Given the description of an element on the screen output the (x, y) to click on. 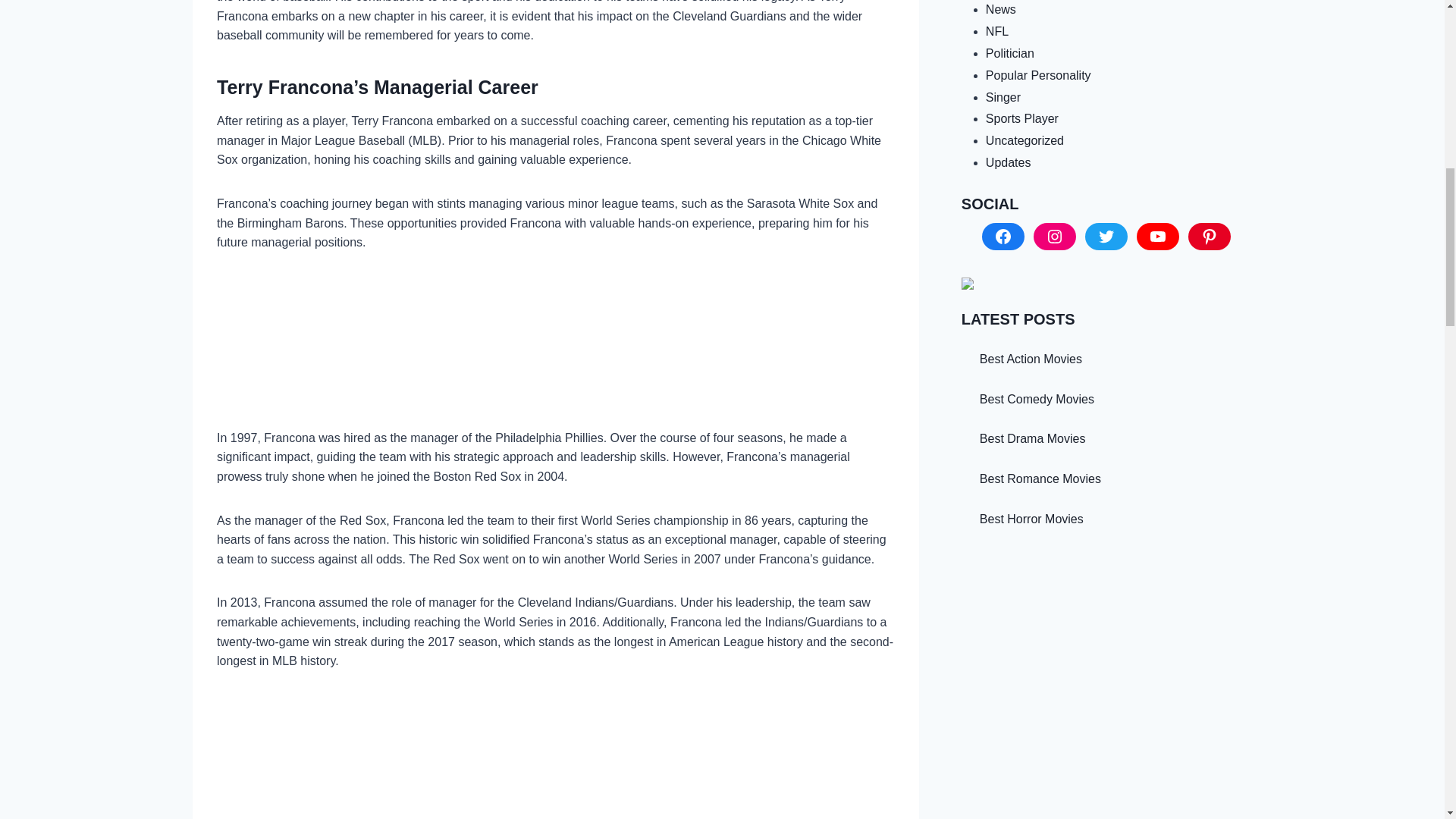
Advertisement (555, 352)
Advertisement (555, 757)
